Given the description of an element on the screen output the (x, y) to click on. 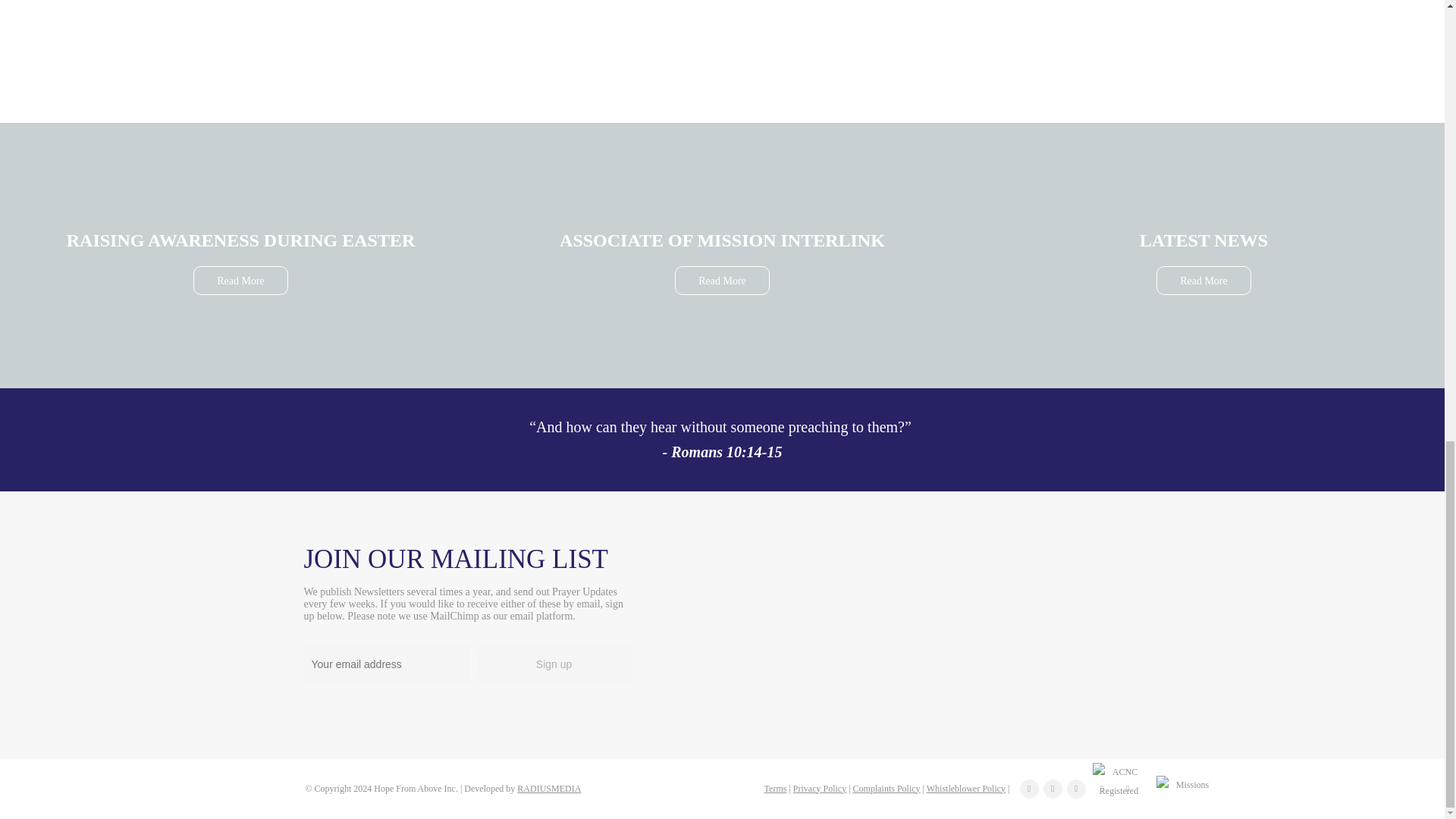
Sign up (554, 664)
Read More (722, 280)
SUMMER CONVENTION AT BELGRAVE HEIGHTS (558, 44)
Read More (240, 280)
